Given the description of an element on the screen output the (x, y) to click on. 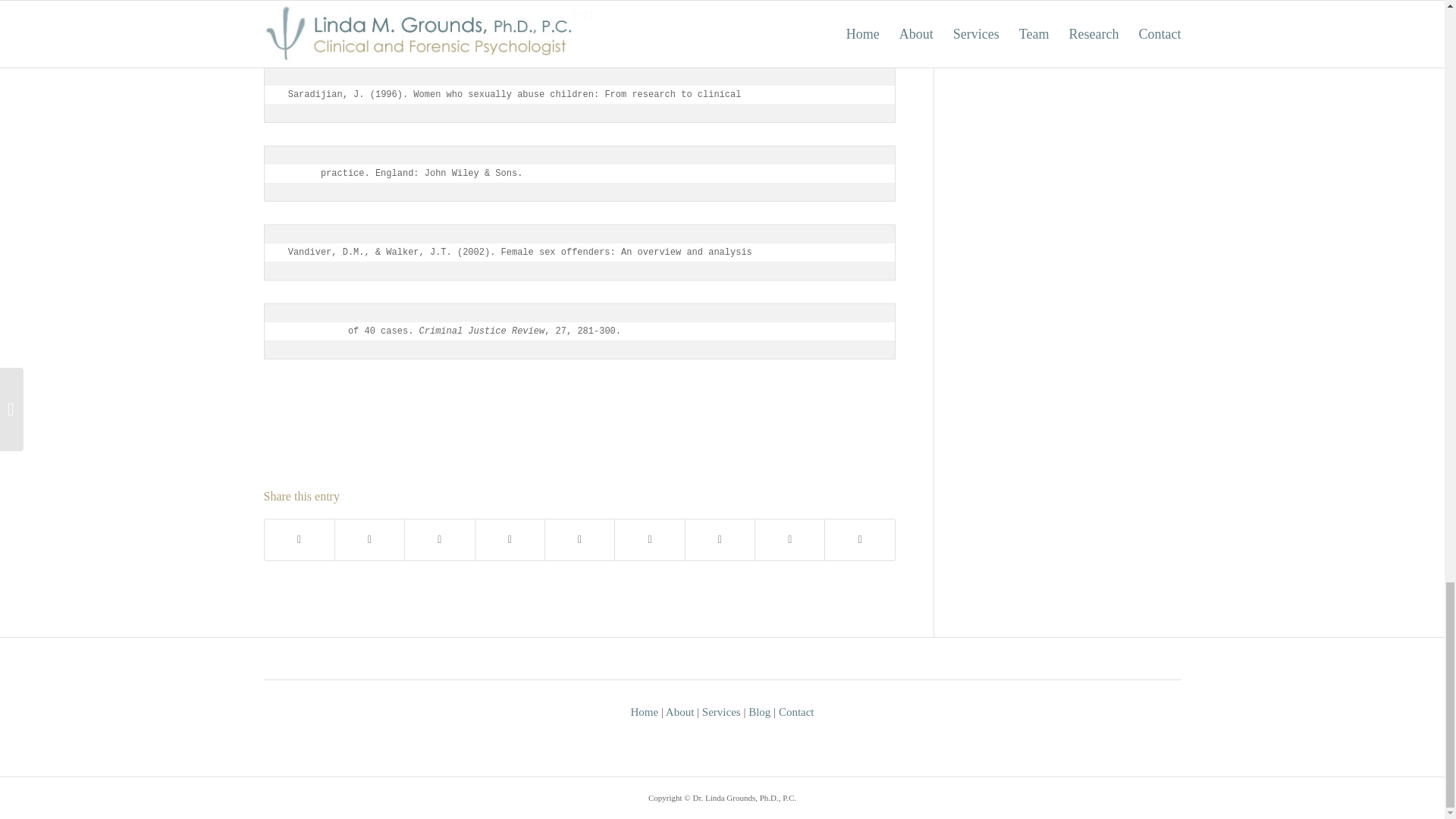
Home (644, 711)
